Given the description of an element on the screen output the (x, y) to click on. 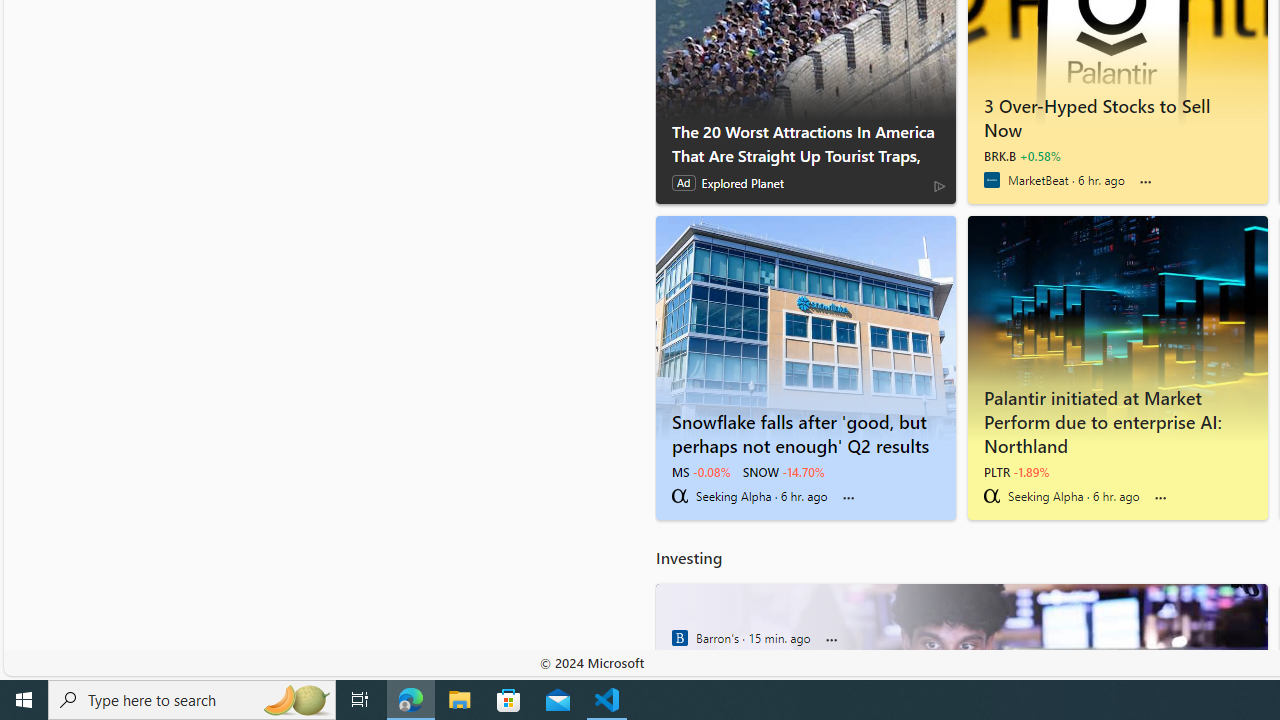
Seeking Alpha (991, 495)
PLTR -1.89% (1016, 471)
MS -0.08% (700, 471)
Barron's (679, 637)
AdChoices (939, 184)
3 Over-Hyped Stocks to Sell Now - MarketBeat (1117, 114)
